Given the description of an element on the screen output the (x, y) to click on. 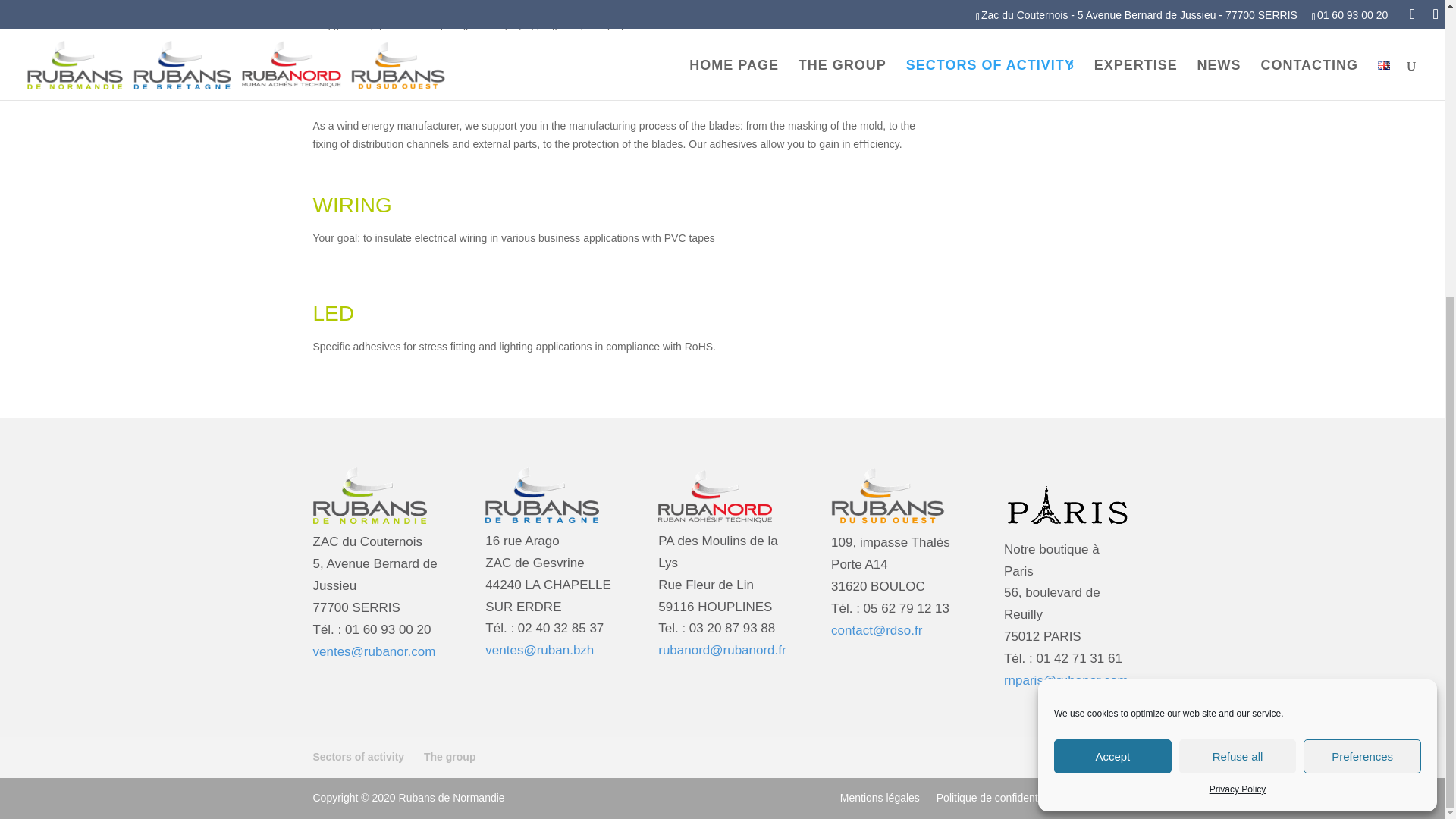
logo rubans de normandie (369, 495)
logos rubans Sud Ouest (887, 495)
Accept (1113, 297)
Refuse all (1238, 297)
logo rubanord (714, 494)
Privacy Policy (1237, 331)
Preferences (1362, 297)
boutique paris rdn logo (1067, 498)
logo rubans bretagne (541, 494)
